Given the description of an element on the screen output the (x, y) to click on. 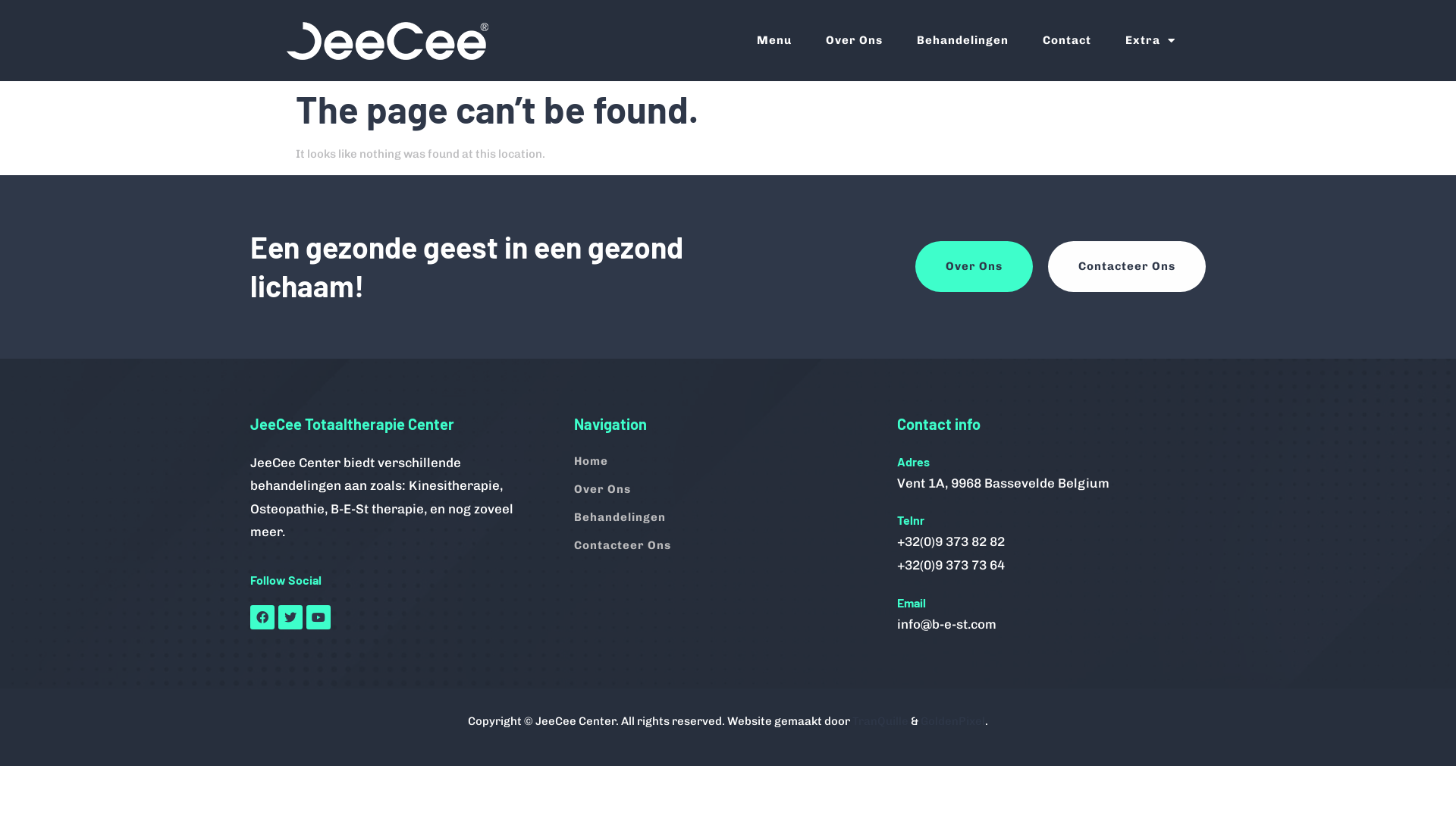
Contact Element type: text (1066, 40)
Contacteer Ons Element type: text (1126, 266)
Contacteer Ons Element type: text (728, 545)
Over Ons Element type: text (973, 266)
Over Ons Element type: text (853, 40)
Extra Element type: text (1150, 40)
Menu Element type: text (773, 40)
Behandelingen Element type: text (728, 517)
TranQuille Element type: text (880, 721)
GoldenPixel Element type: text (952, 721)
Home Element type: text (728, 461)
Behandelingen Element type: text (962, 40)
Over Ons Element type: text (728, 489)
